Given the description of an element on the screen output the (x, y) to click on. 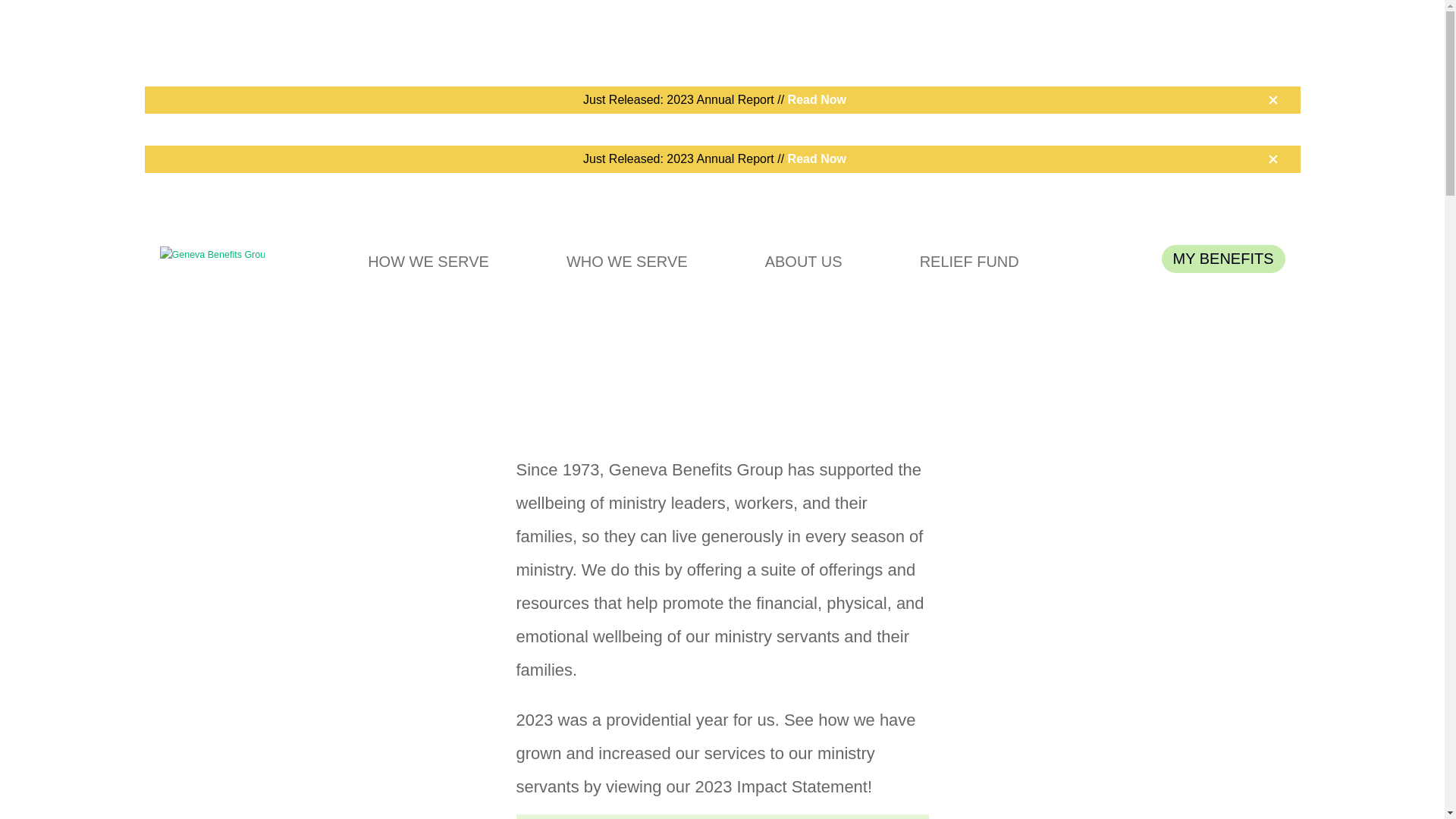
ABOUT US (812, 261)
HOW WE SERVE (436, 261)
Read Now (816, 159)
WHO WE SERVE (635, 261)
RELIEF FUND (977, 261)
Read Now (816, 100)
MY BENEFITS (1223, 258)
